Given the description of an element on the screen output the (x, y) to click on. 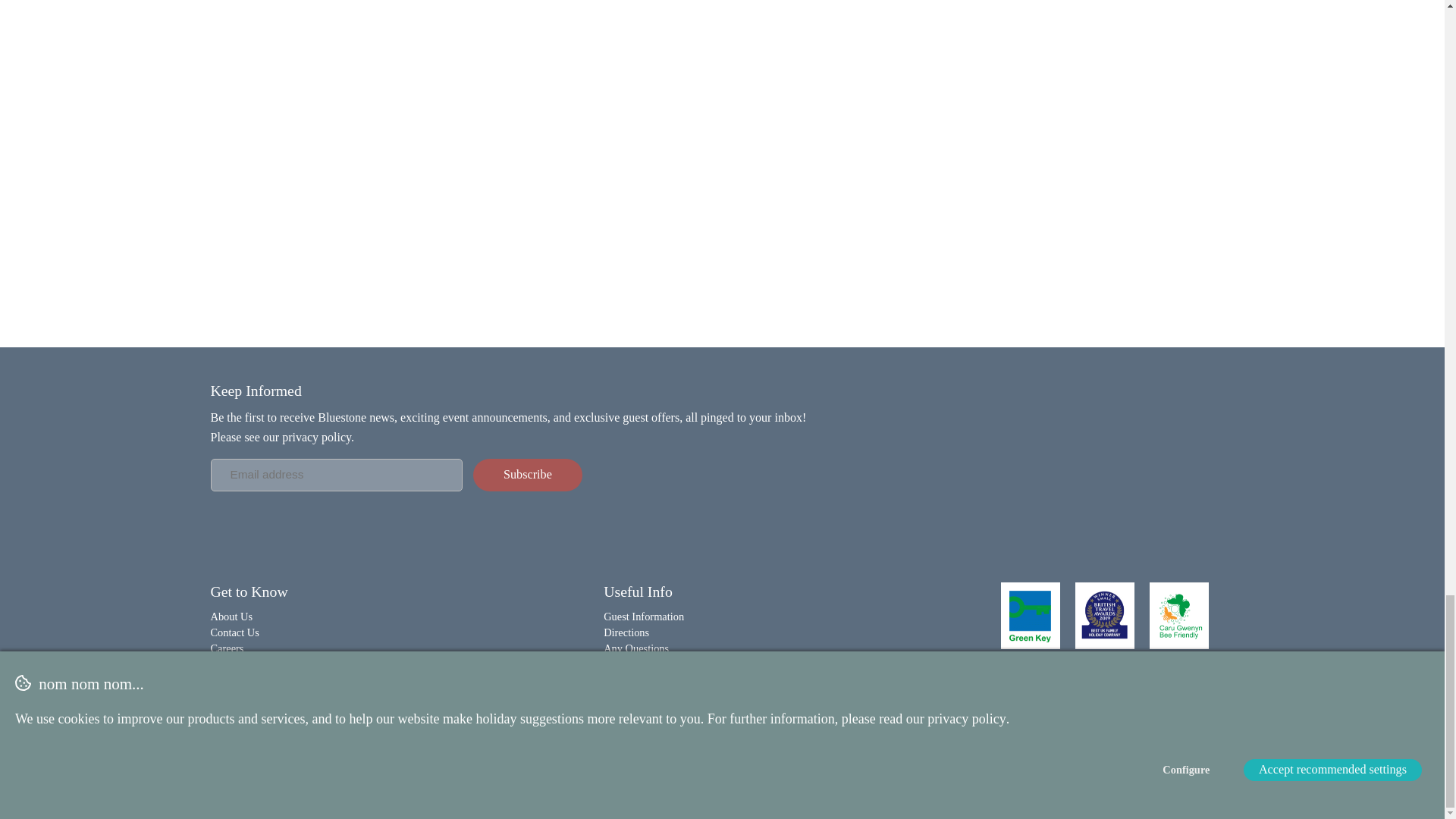
Sign up (527, 474)
Bluestone Foundation (259, 695)
Privacy Policy (472, 775)
Contact Us (235, 632)
Any Questions (636, 648)
Help (614, 664)
About Us (232, 616)
Careers (227, 648)
Media (224, 680)
Subscribe (527, 474)
Guest Information (644, 616)
Booking Terms and Condition (636, 775)
Directions (626, 632)
Please see our privacy policy. (283, 436)
Sitemap (786, 775)
